Given the description of an element on the screen output the (x, y) to click on. 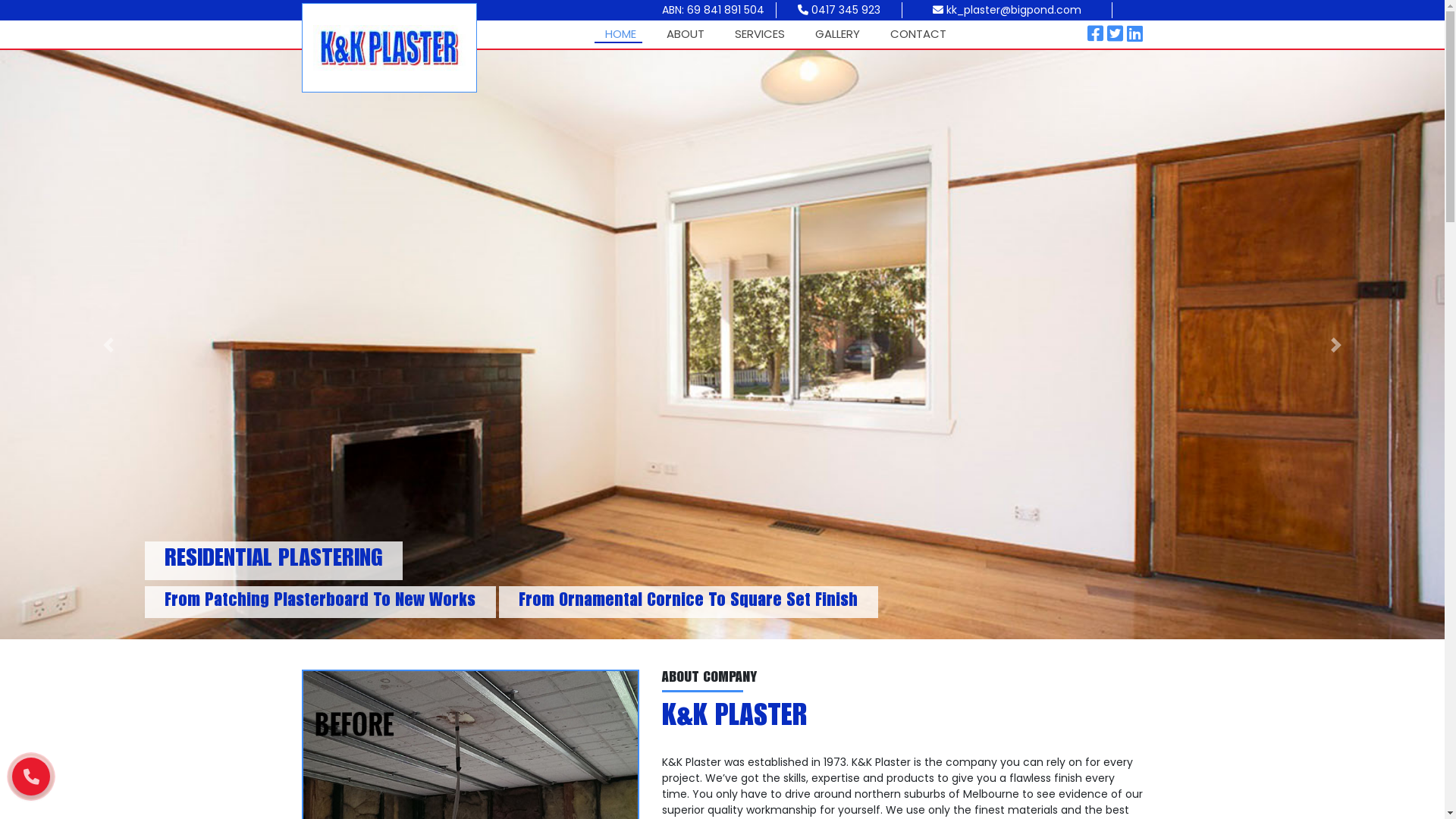
Next Element type: text (1335, 344)
 0417 345 923 Element type: text (838, 9)
Previous Element type: text (108, 344)
1
2 Element type: text (31, 787)
ABOUT Element type: text (684, 34)
 kk_plaster@bigpond.com Element type: text (1006, 9)
CONTACT Element type: text (918, 34)
SERVICES Element type: text (758, 34)
GALLERY Element type: text (836, 34)
HOME Element type: text (620, 34)
